Given the description of an element on the screen output the (x, y) to click on. 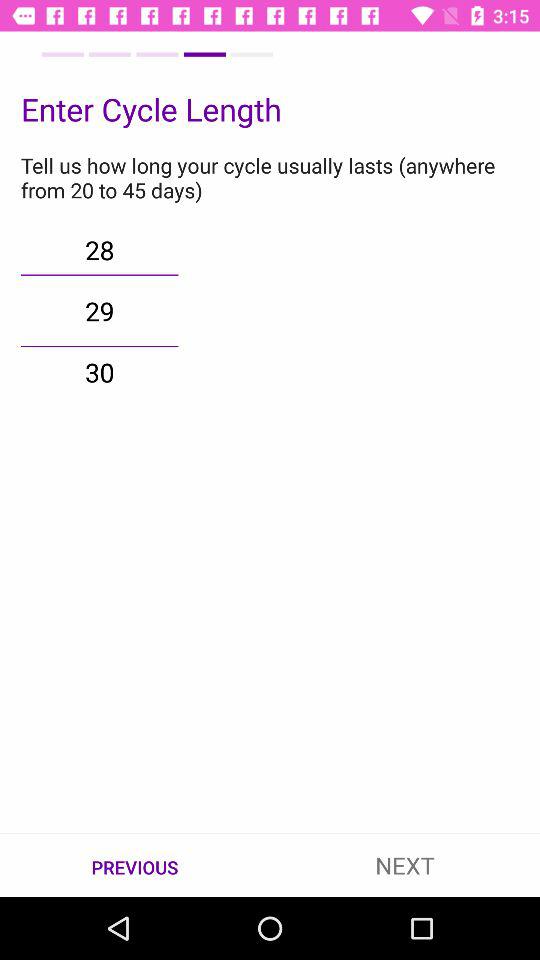
press icon next to previous (405, 864)
